Given the description of an element on the screen output the (x, y) to click on. 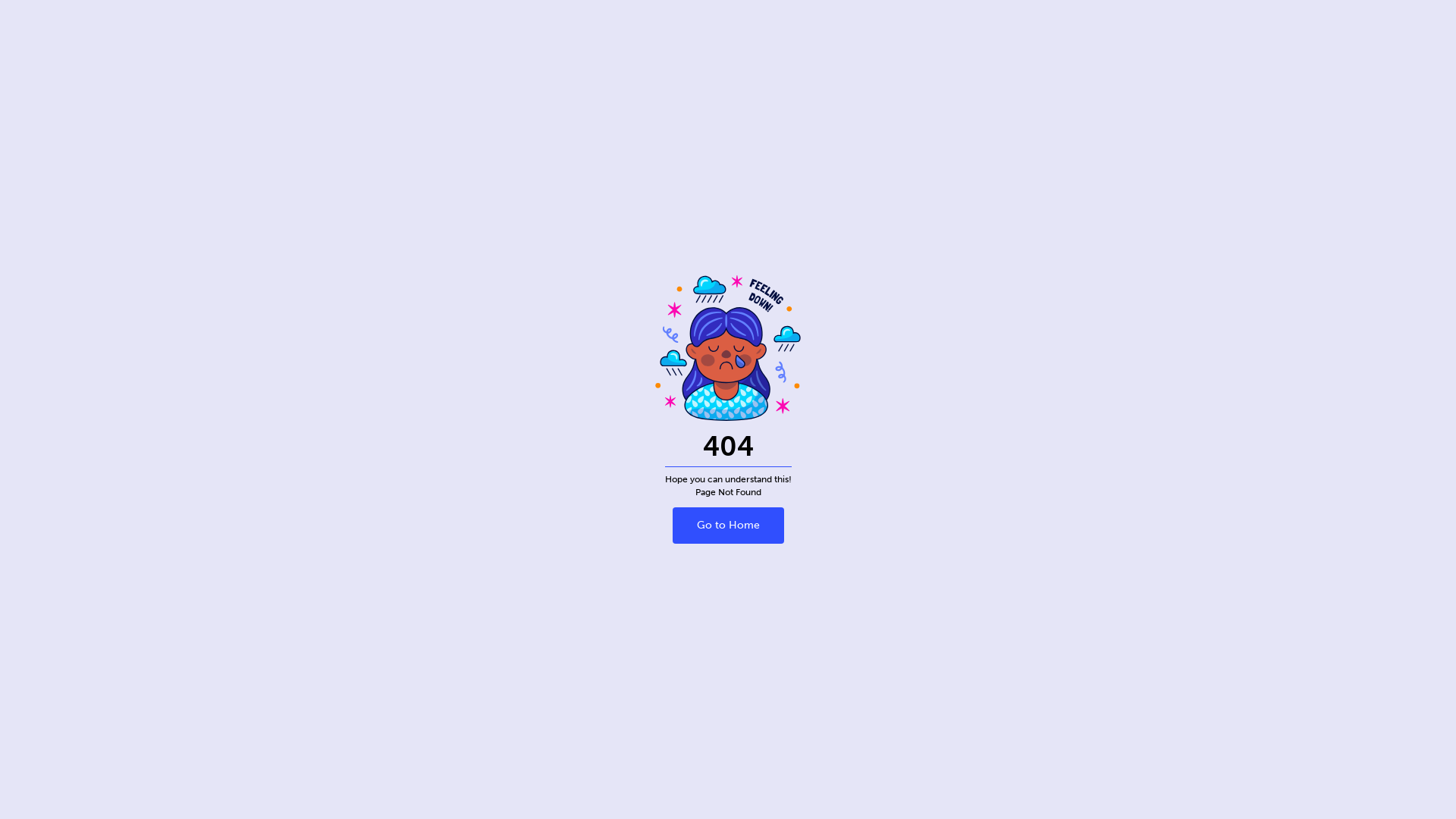
Go to Home Element type: text (727, 525)
